Given the description of an element on the screen output the (x, y) to click on. 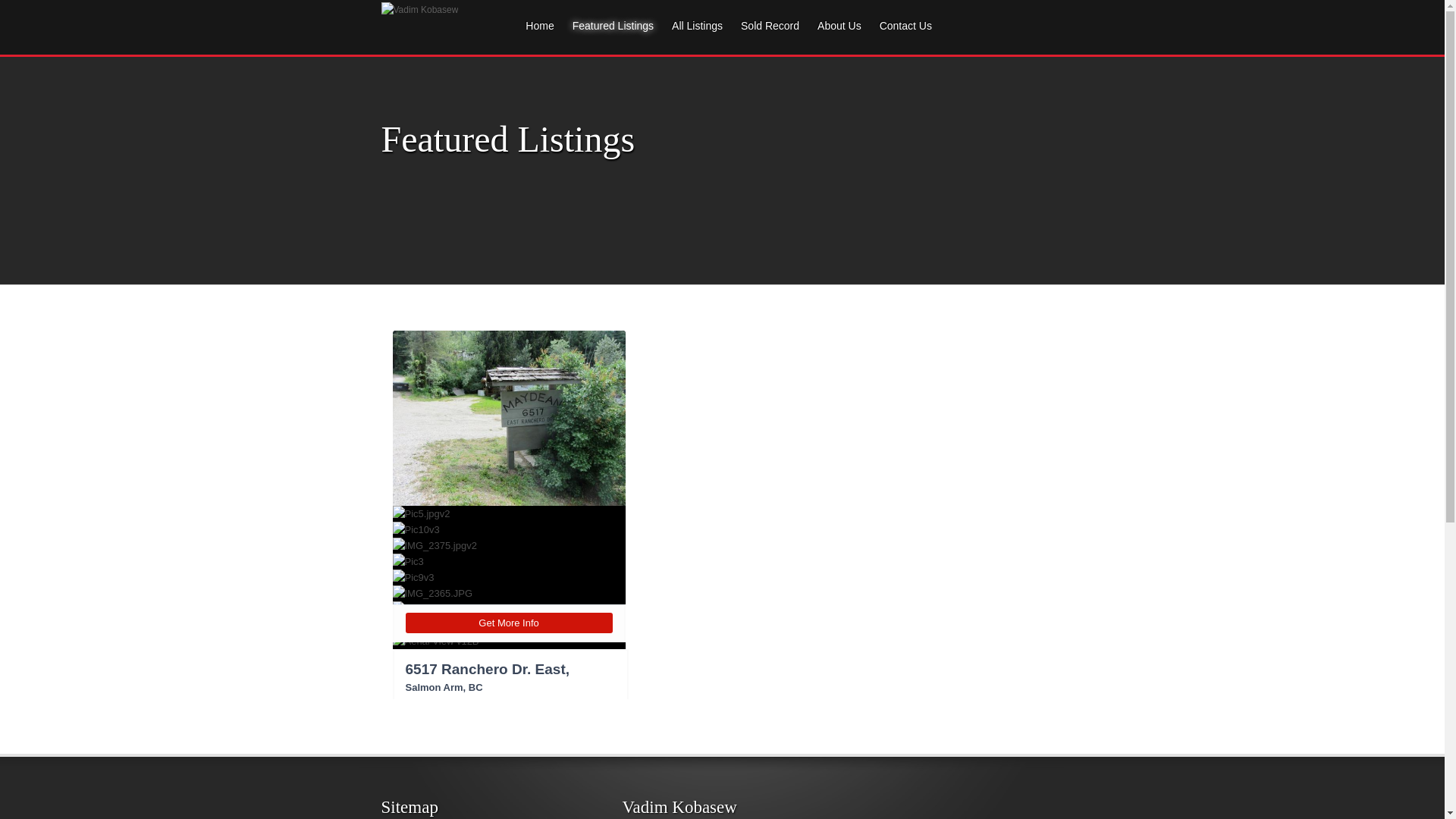
Contact Us Element type: text (900, 33)
About Us Element type: text (833, 33)
6517 Ranchero Dr. East, Element type: text (486, 669)
Featured Listings Element type: text (607, 33)
Get More Info Element type: text (508, 622)
All Listings Element type: text (691, 33)
Home Element type: text (533, 33)
Sold Record Element type: text (764, 33)
